Given the description of an element on the screen output the (x, y) to click on. 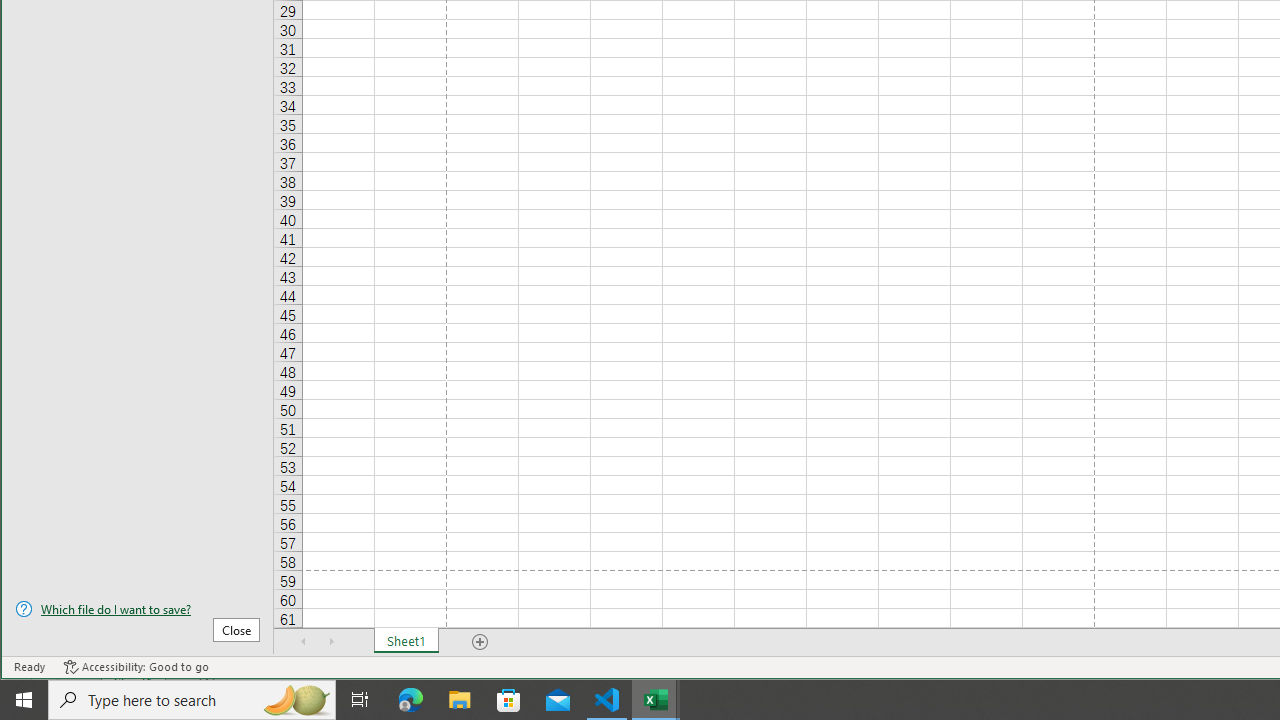
Excel - 2 running windows (656, 699)
File Explorer (460, 699)
Type here to search (191, 699)
Visual Studio Code - 1 running window (607, 699)
Microsoft Store (509, 699)
Microsoft Edge (411, 699)
Start (24, 699)
Search highlights icon opens search home window (295, 699)
